Given the description of an element on the screen output the (x, y) to click on. 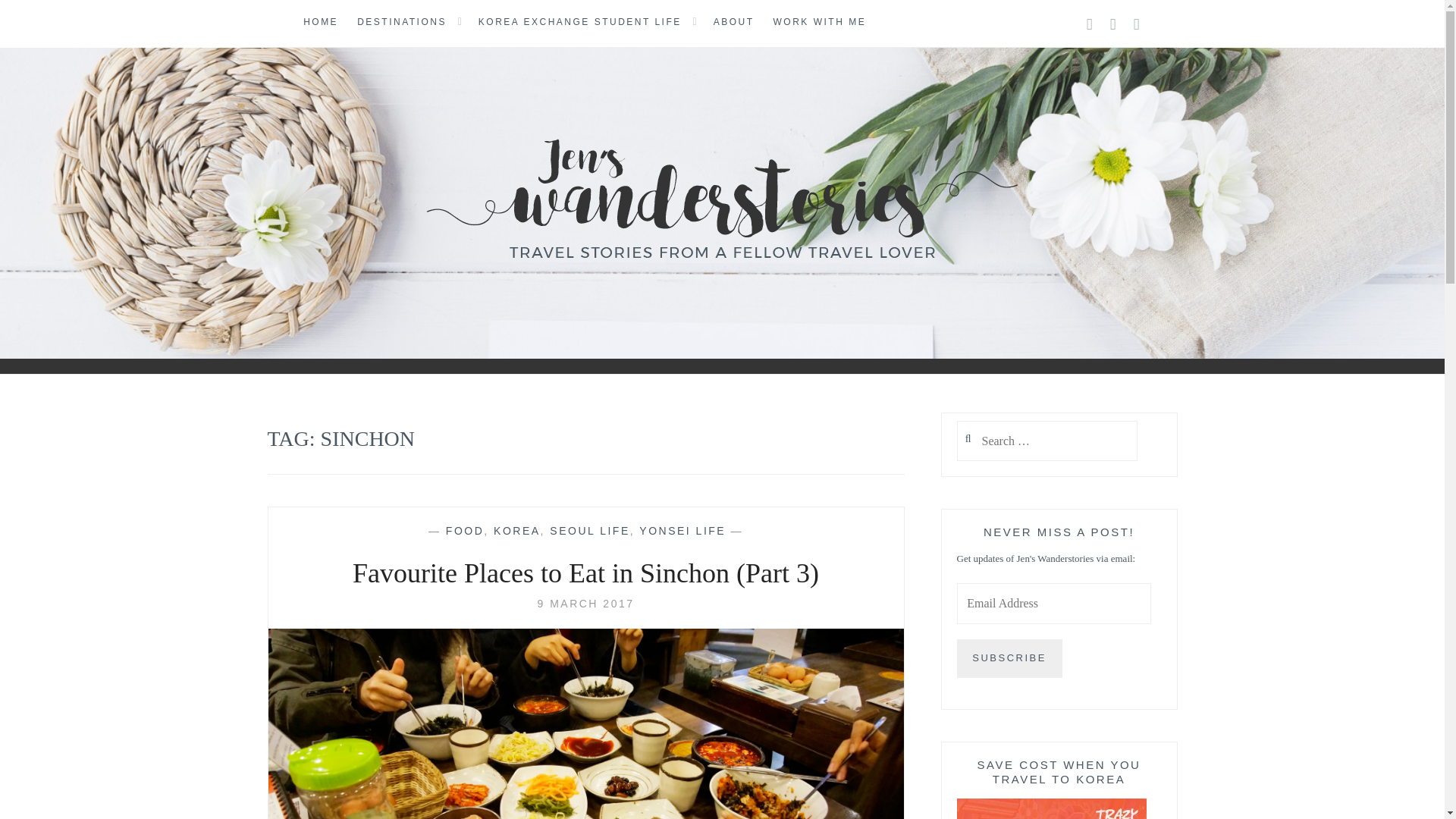
SEOUL LIFE (589, 530)
HOME (319, 22)
WORK WITH ME (819, 22)
KOREA EXCHANGE STUDENT LIFE (580, 22)
KOREA (516, 530)
FOOD (464, 530)
Subscribe (1009, 658)
DESTINATIONS (401, 22)
ABOUT (733, 22)
JEN'S WANDERSTORIES (228, 301)
9 MARCH 2017 (585, 603)
YONSEI LIFE (682, 530)
